Given the description of an element on the screen output the (x, y) to click on. 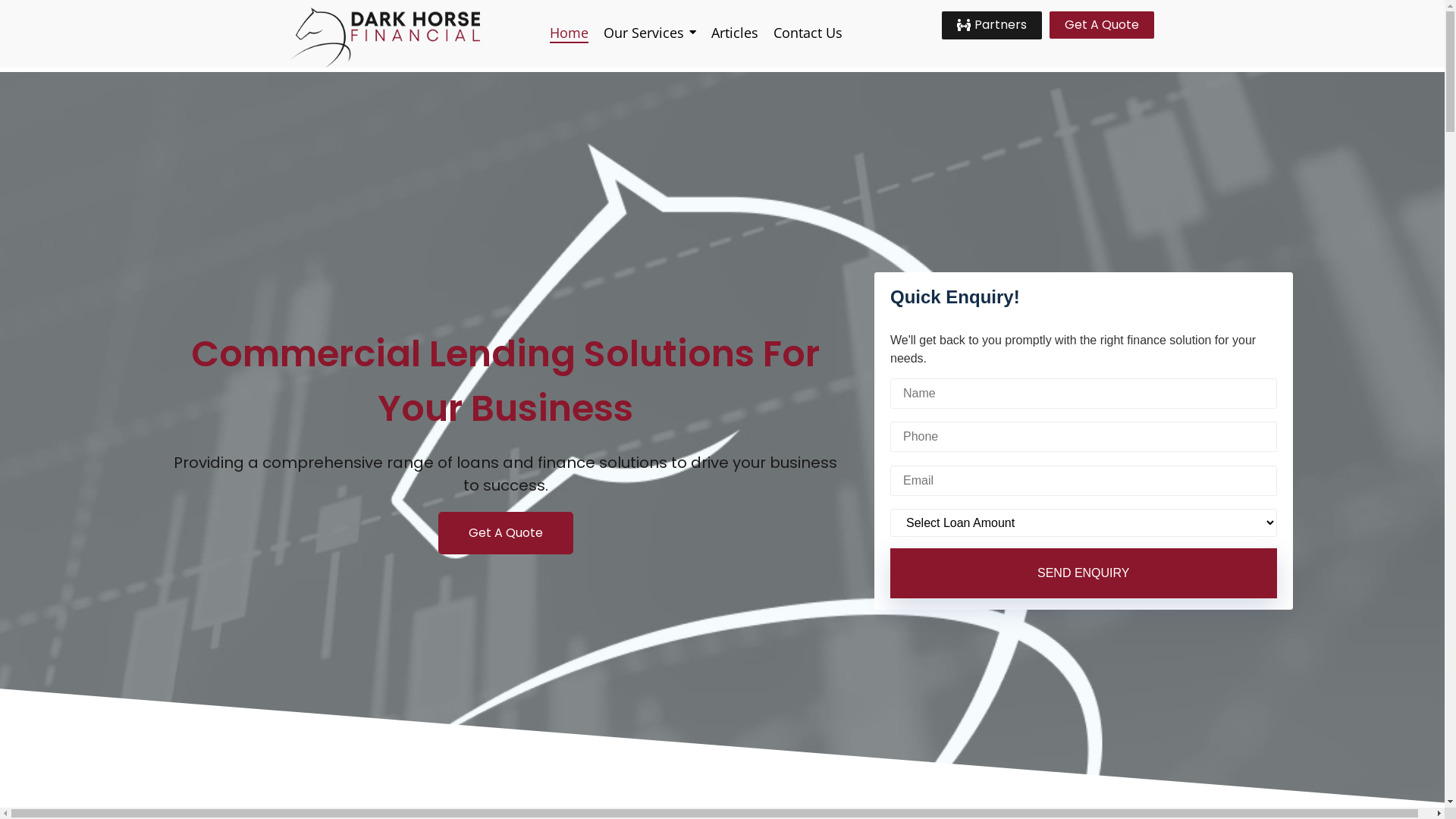
Our Services Element type: text (649, 32)
Get A Quote Element type: text (505, 532)
Partners Element type: text (991, 25)
SEND ENQUIRY Element type: text (1083, 573)
Articles Element type: text (734, 32)
Home Element type: text (568, 32)
Contact Us Element type: text (807, 32)
Get A Quote Element type: text (1101, 24)
